Given the description of an element on the screen output the (x, y) to click on. 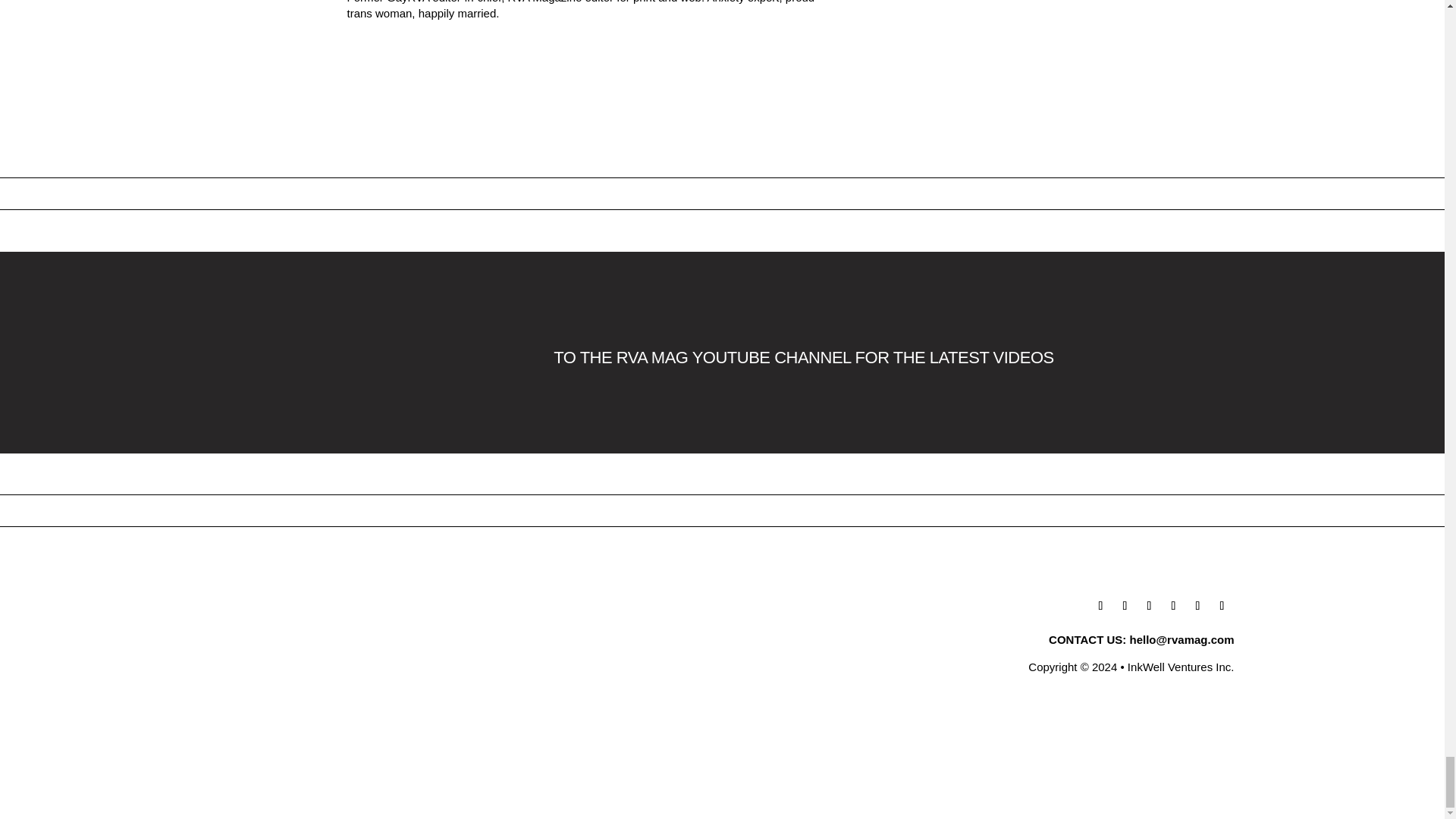
Follow on Instagram (1173, 605)
Follow on X (1125, 605)
Follow on TikTok (1197, 605)
Follow on tumblr (1149, 605)
Follow on Facebook (1101, 605)
